Given the description of an element on the screen output the (x, y) to click on. 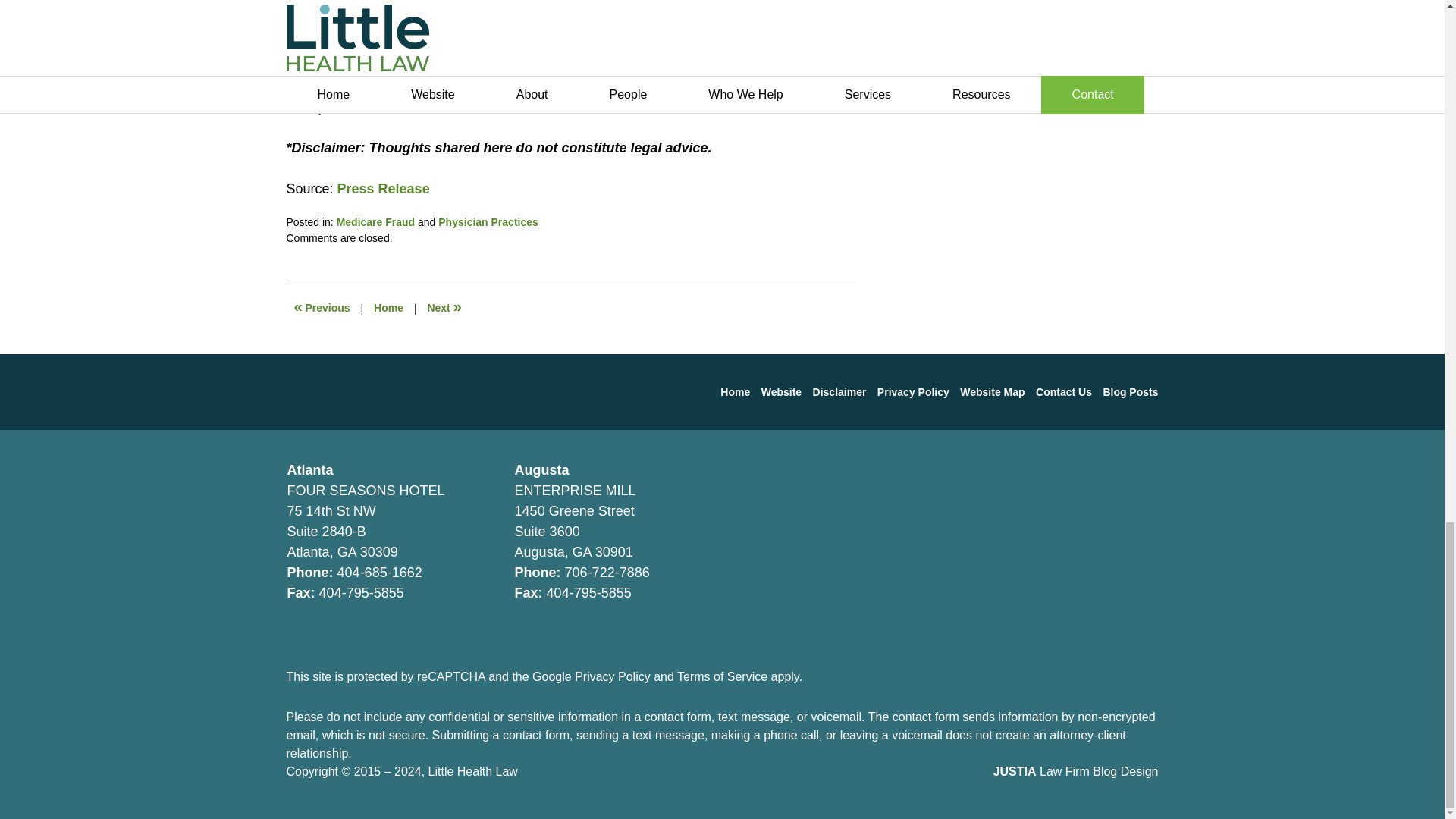
Home (388, 308)
View all posts in Medicare Fraud (375, 222)
Physician Practices (488, 222)
Medicare Fraud (375, 222)
Medicare Issues for Direct Pay and Concierge Practices (322, 308)
View all posts in Physician Practices (488, 222)
health care law firm (349, 86)
littlehealthlaw (429, 106)
Press Release (383, 188)
.com (490, 106)
